Given the description of an element on the screen output the (x, y) to click on. 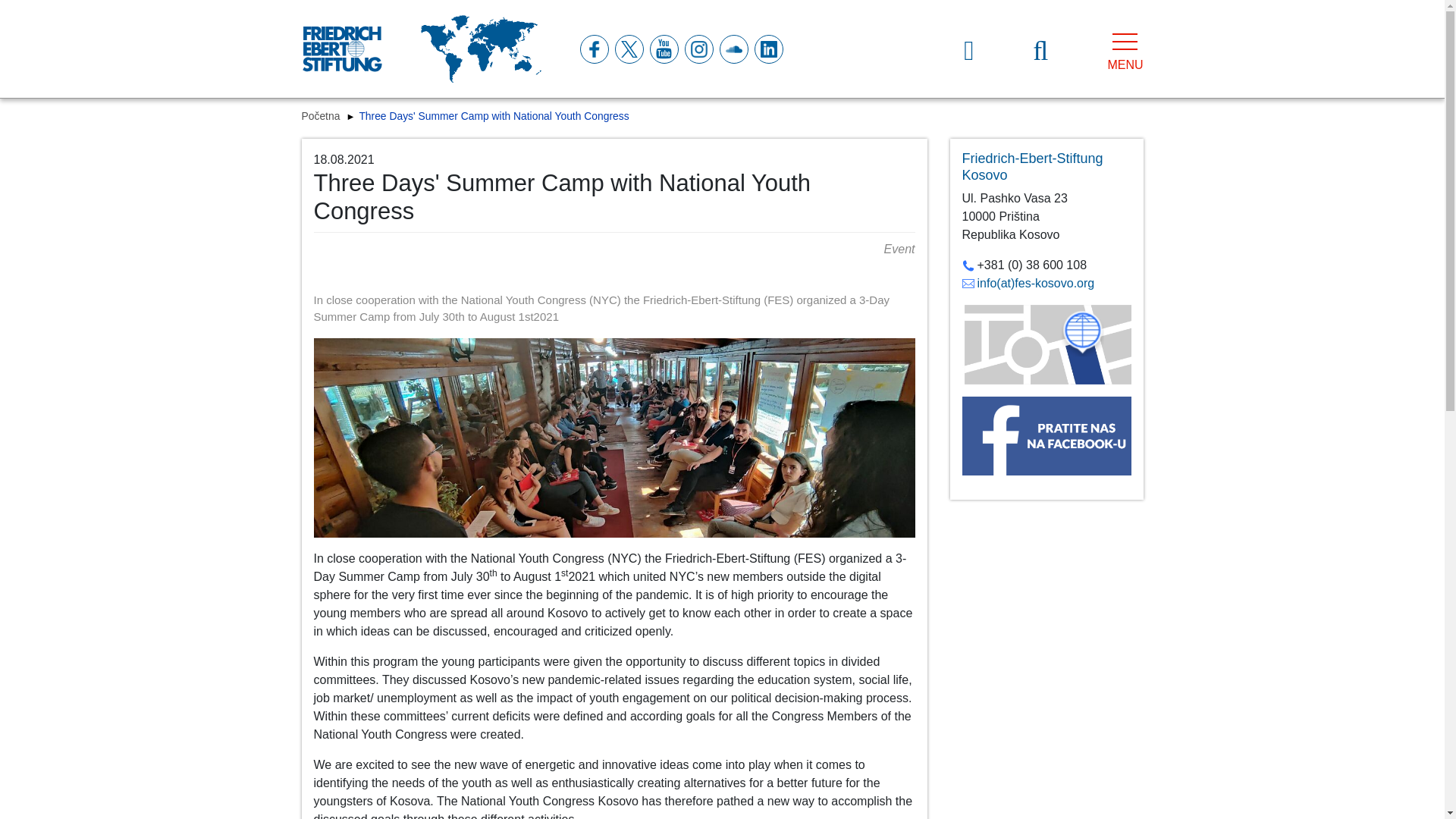
soundcloud (733, 48)
WhatsApp Image 2021 08 02 at 15.54.55 (614, 438)
twitter (628, 48)
instagram (698, 48)
linkedin (768, 48)
facebook (593, 48)
